Given the description of an element on the screen output the (x, y) to click on. 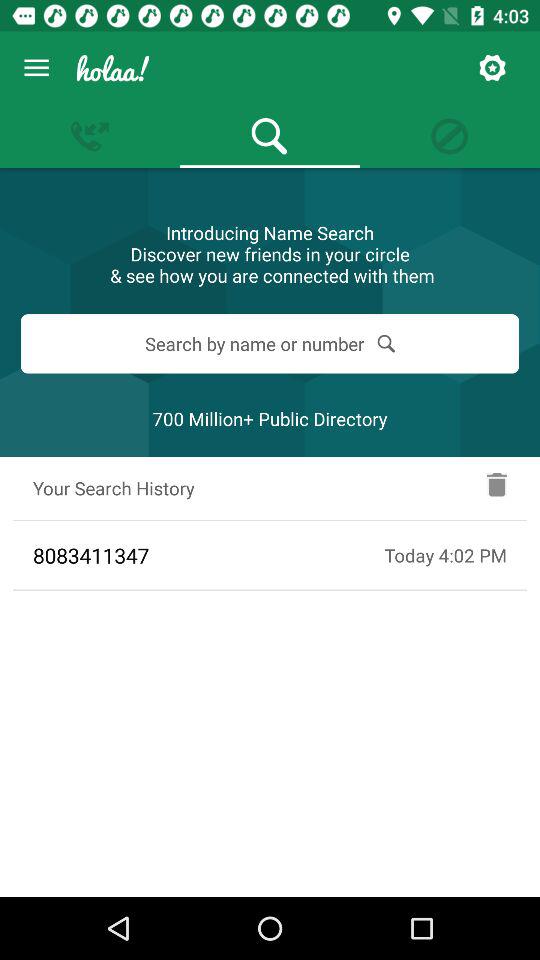
delete the search history (497, 487)
